Given the description of an element on the screen output the (x, y) to click on. 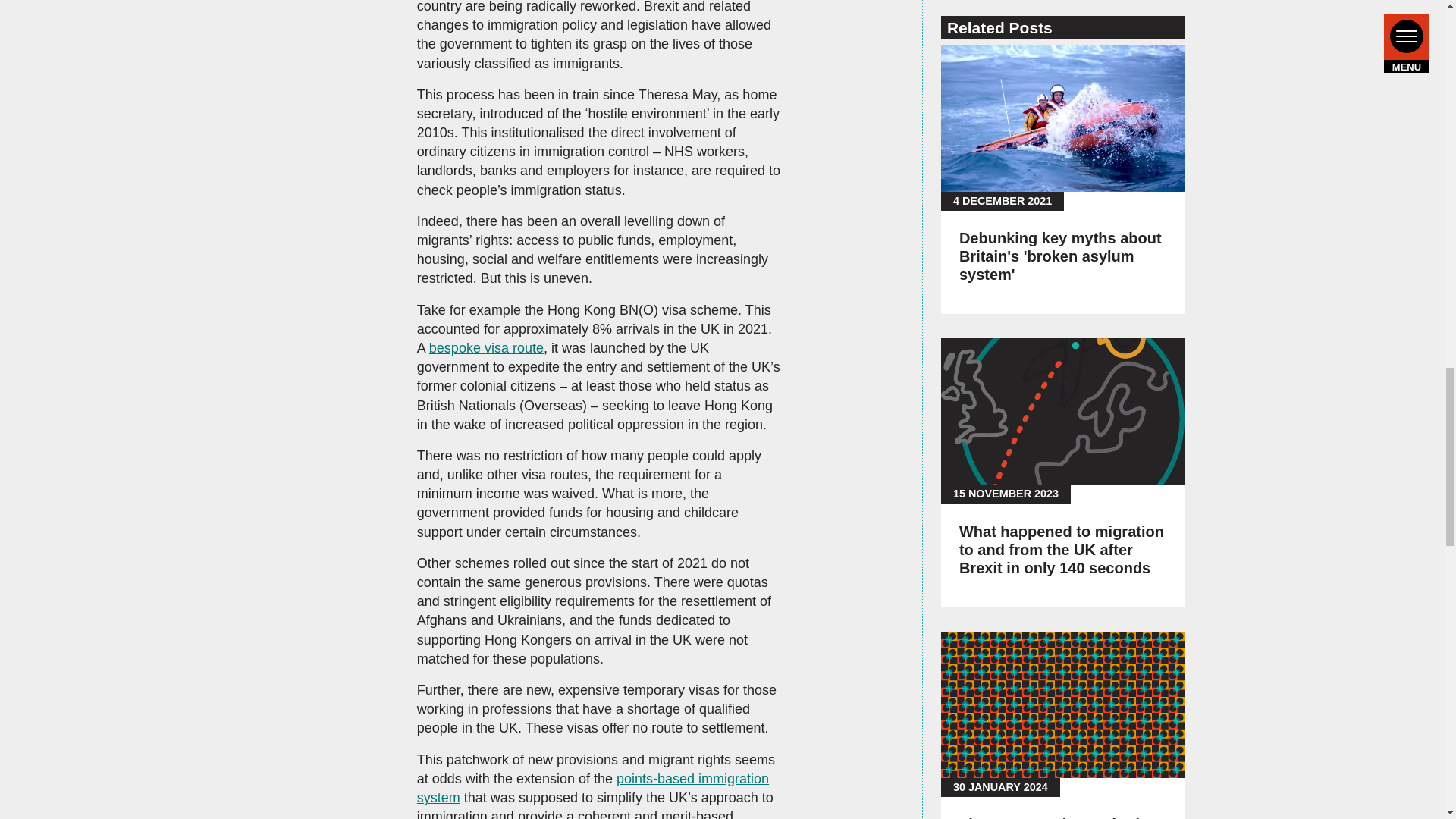
points-based immigration system (592, 788)
Subscribe to our Newsletter (1062, 406)
bespoke visa route (486, 347)
Twitter (1036, 359)
Facebook (1036, 256)
Instagram (1036, 307)
